Given the description of an element on the screen output the (x, y) to click on. 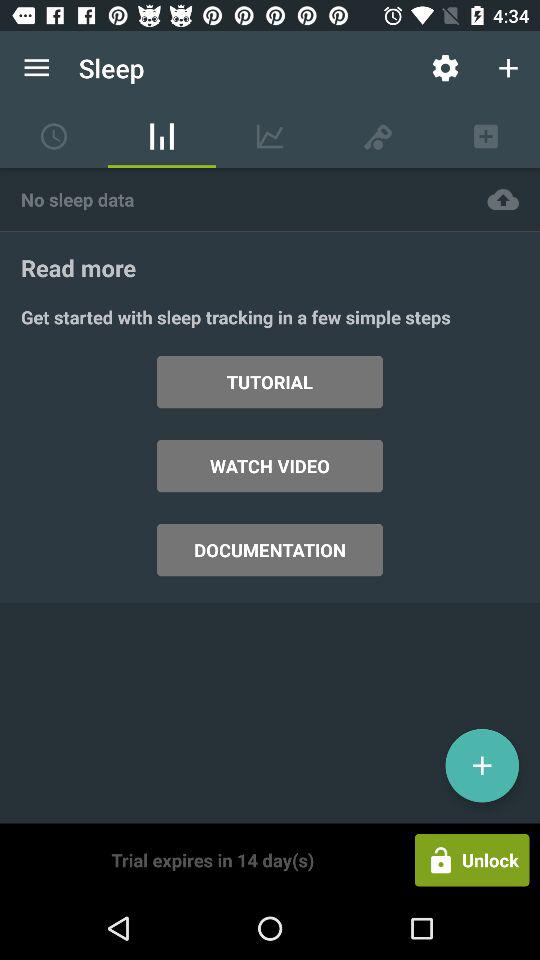
choose the item to the right of the sleep (444, 67)
